Given the description of an element on the screen output the (x, y) to click on. 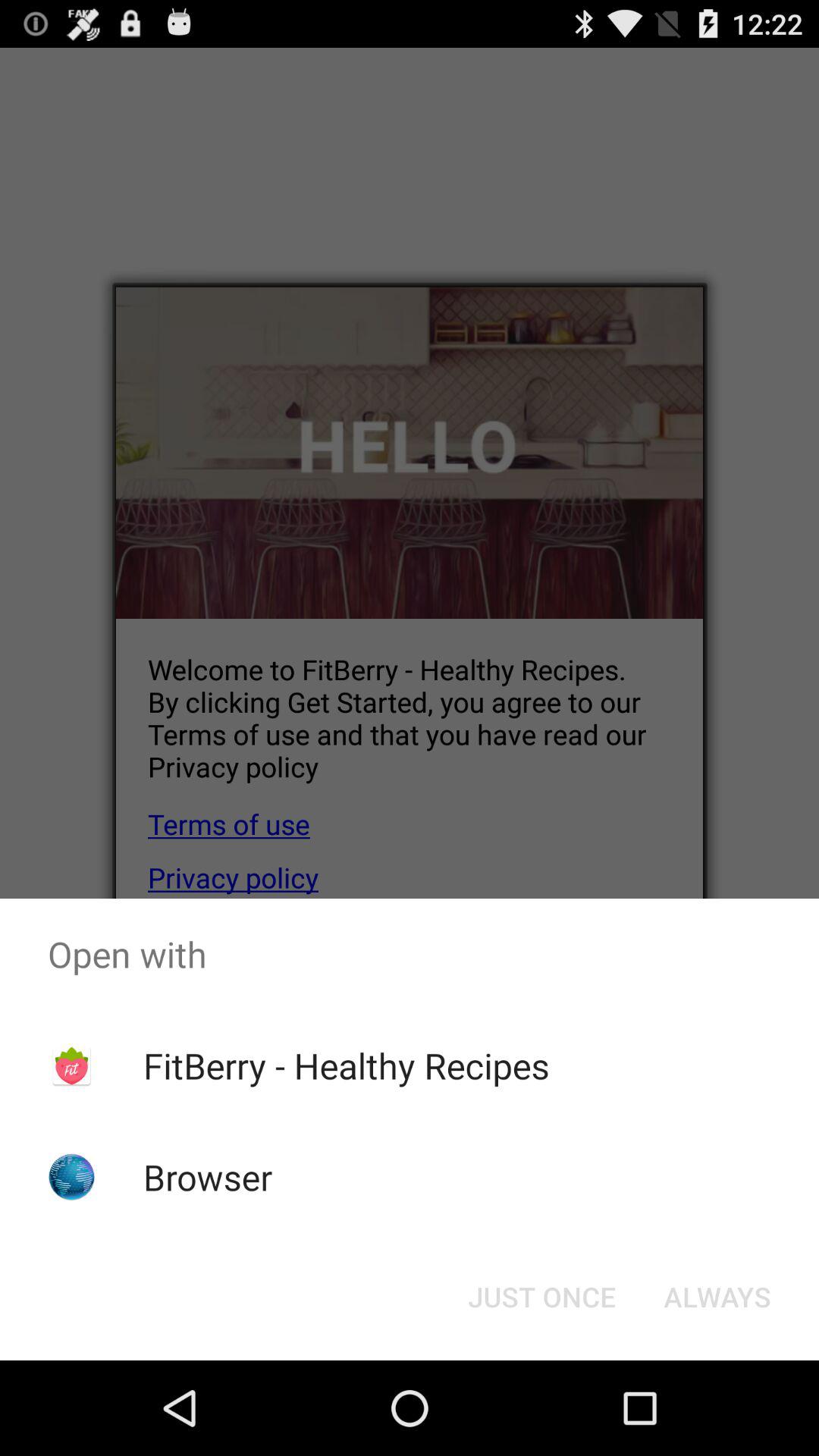
click browser item (207, 1176)
